Given the description of an element on the screen output the (x, y) to click on. 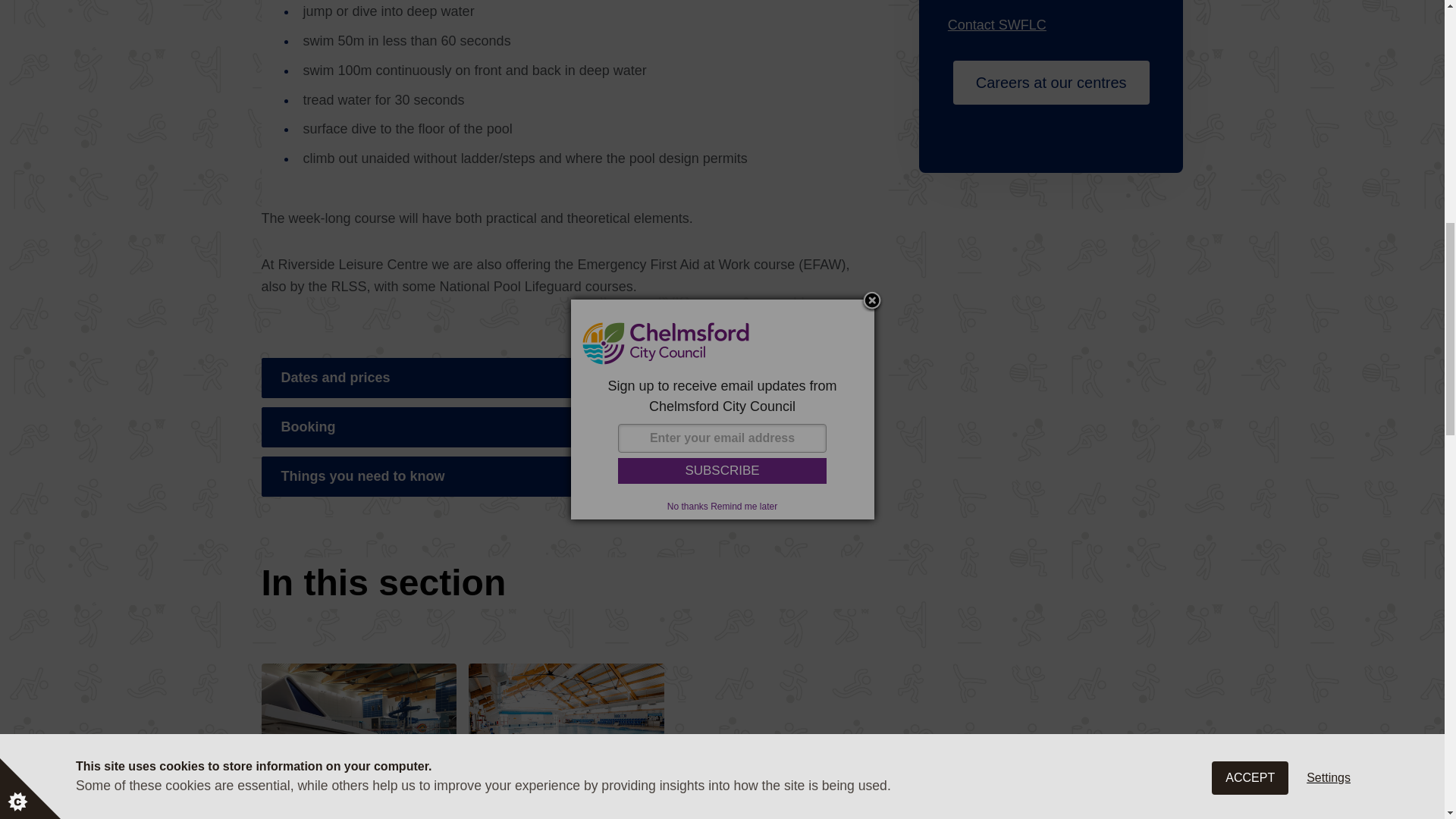
Things you need to know (565, 476)
Settings (1328, 12)
ACCEPT (1249, 24)
Contact: SWFLC (996, 25)
Careers at our Sports Centres (1051, 82)
Dates and prices (565, 377)
Booking (565, 427)
